Given the description of an element on the screen output the (x, y) to click on. 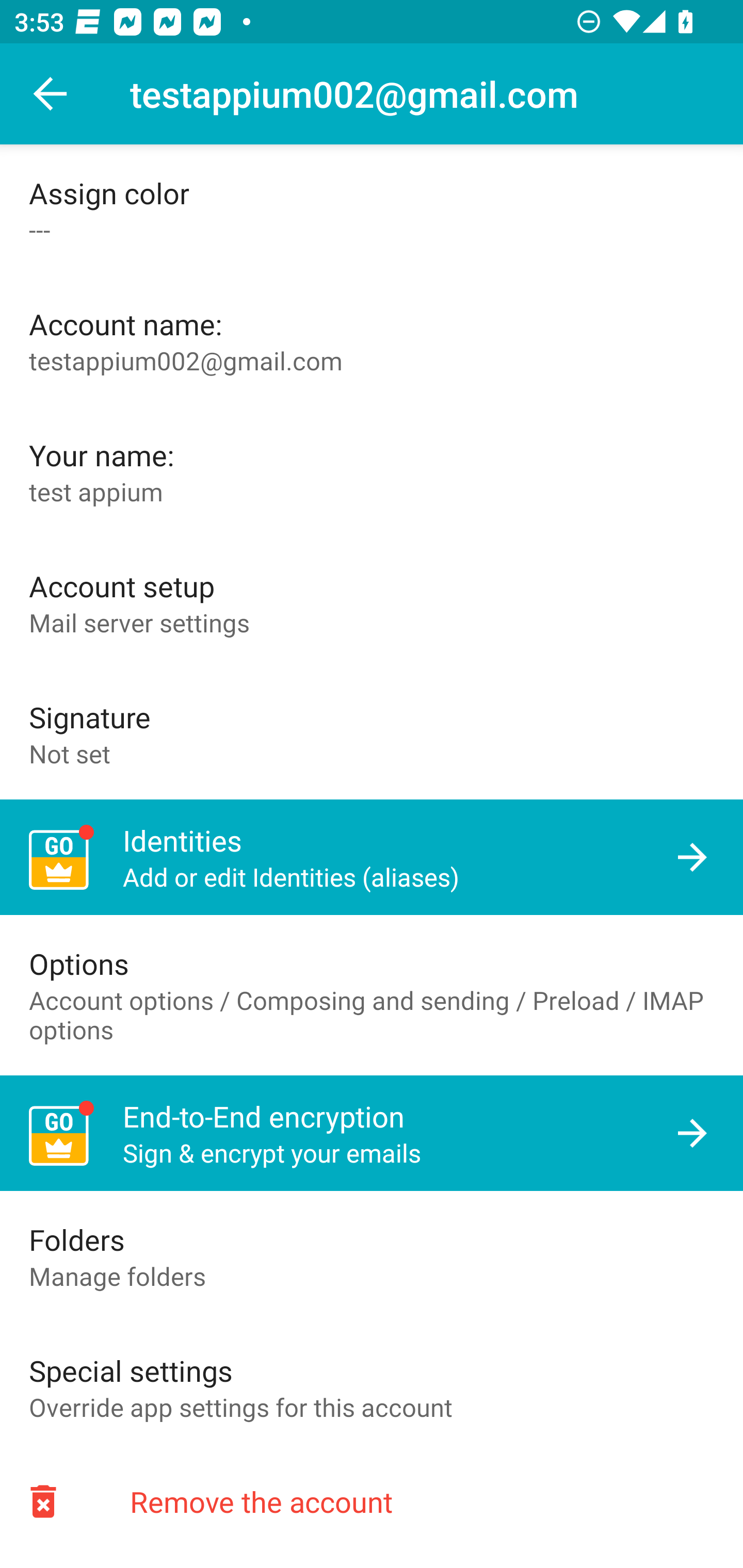
Navigate up (50, 93)
Assign color --- (371, 209)
Account name: testappium002@gmail.com (371, 340)
Your name: test appium (371, 471)
Account setup Mail server settings (371, 602)
Signature Not set (371, 733)
Identities Add or edit Identities (aliases) (371, 857)
End-to-End encryption Sign & encrypt your emails (371, 1133)
Folders Manage folders (371, 1256)
Remove the account (371, 1501)
